Given the description of an element on the screen output the (x, y) to click on. 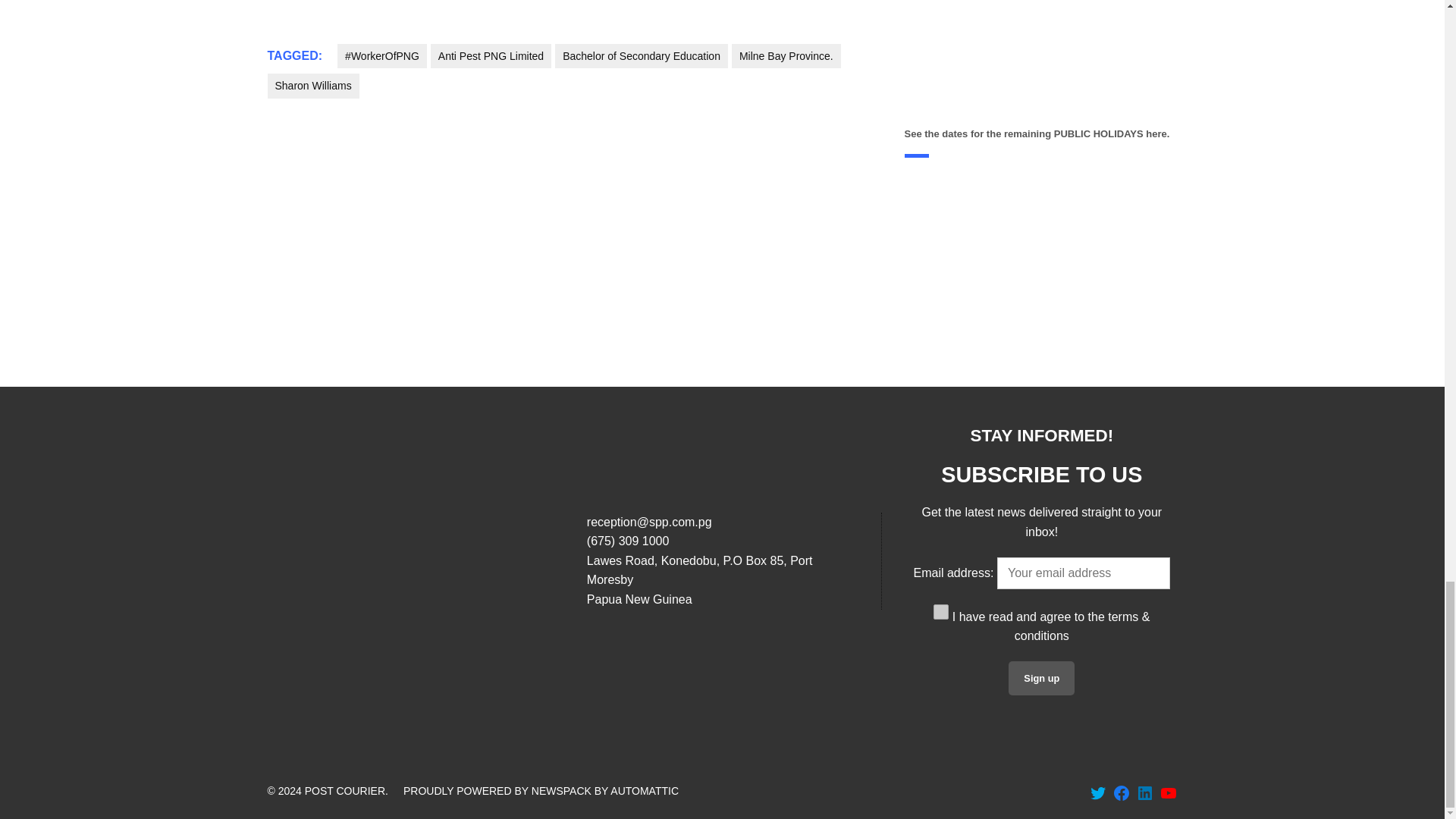
VideoPress Video Player (1040, 60)
Open address in Google Maps (721, 580)
Sign up (1041, 678)
1 (941, 611)
